Given the description of an element on the screen output the (x, y) to click on. 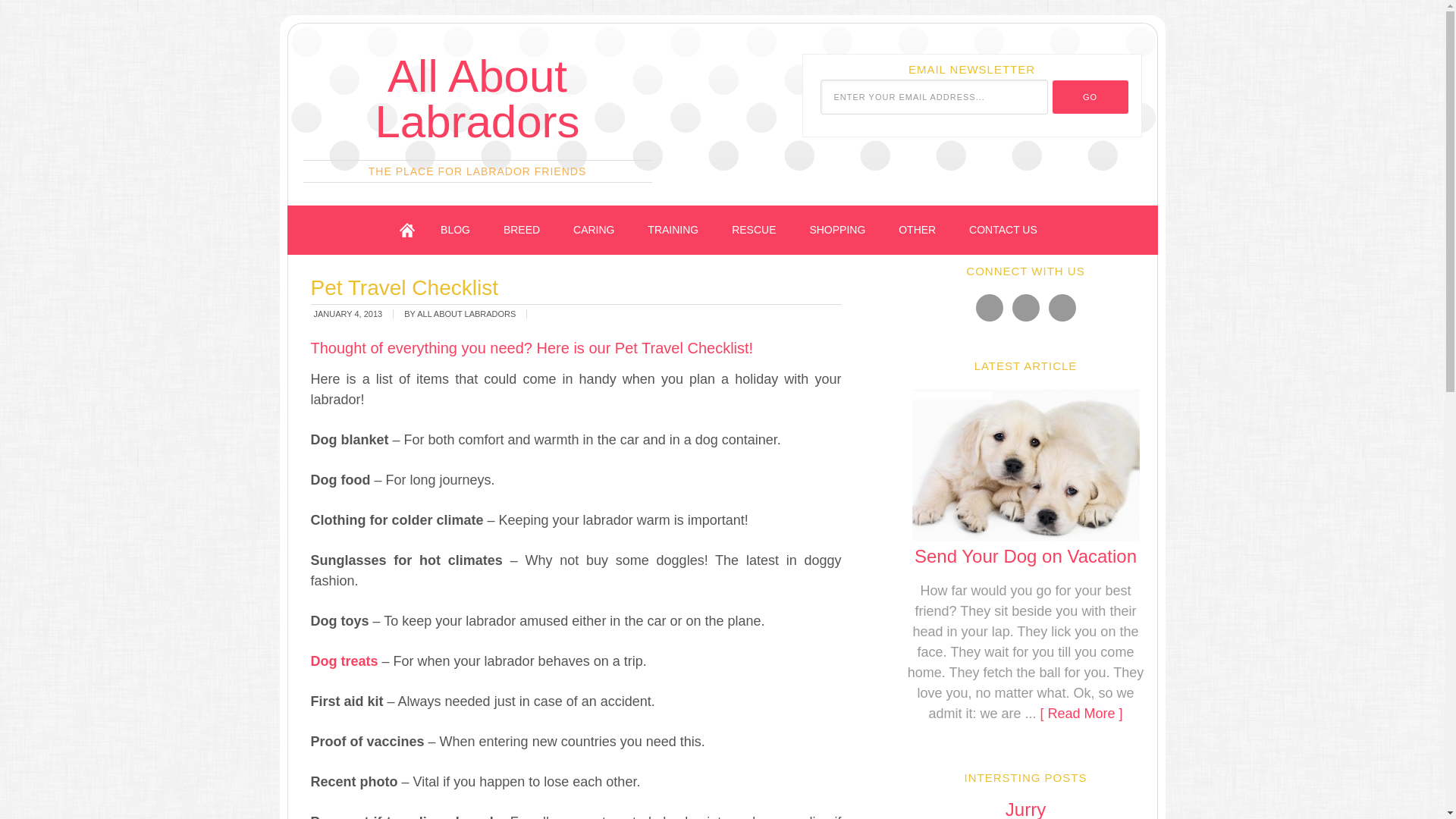
SHOPPING (836, 229)
BLOG (454, 229)
Go (1090, 96)
Labradors Blog (454, 229)
All About Labradors (476, 98)
OTHER (916, 229)
Go (1090, 96)
Dog treats (344, 661)
RESCUE (753, 229)
TRAINING (672, 229)
BREED (520, 229)
CARING (592, 229)
CONTACT US (1002, 229)
